Given the description of an element on the screen output the (x, y) to click on. 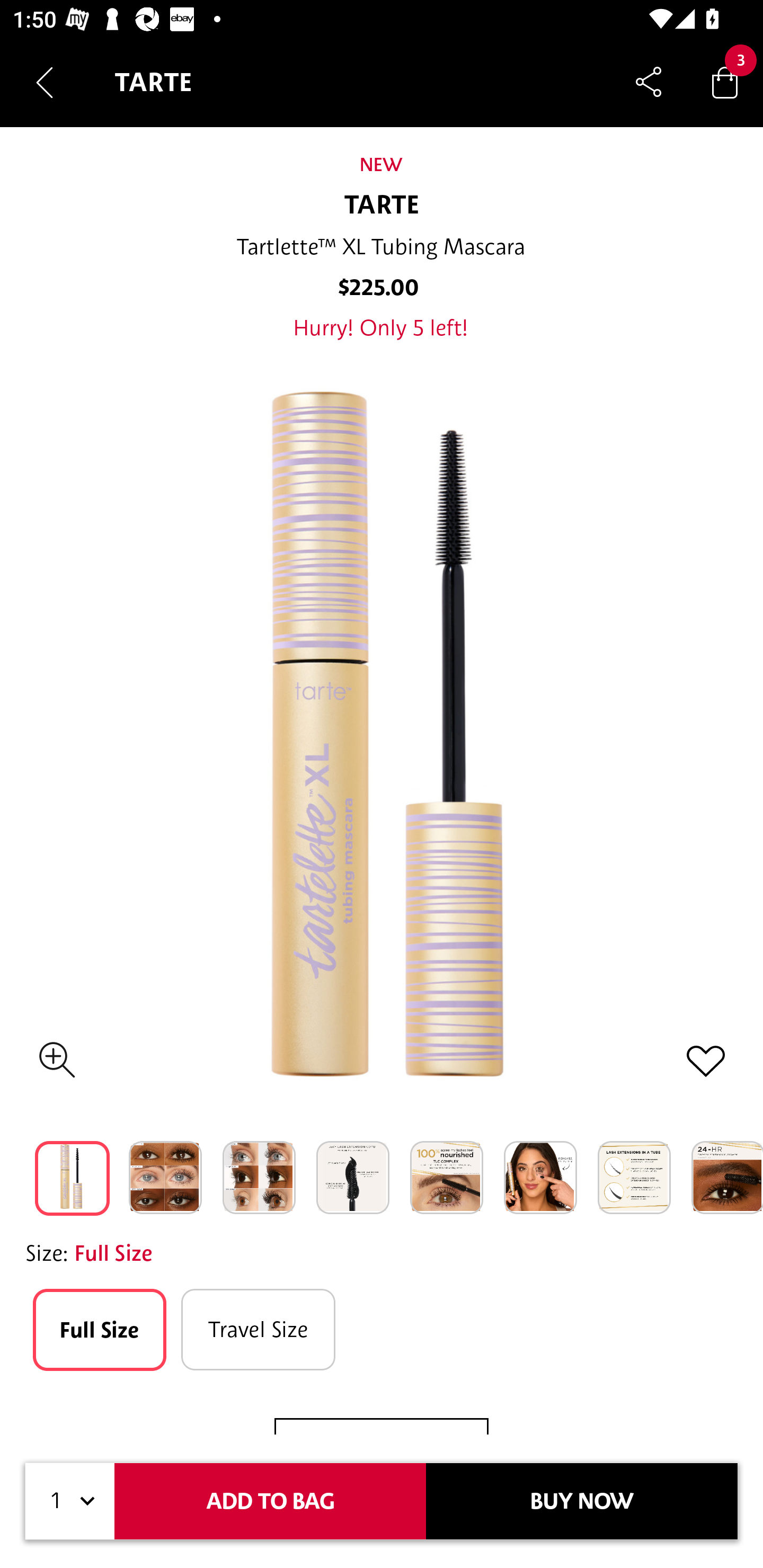
Navigate up (44, 82)
Share (648, 81)
Bag (724, 81)
TARTE (381, 205)
Full Size (99, 1329)
Travel Size (258, 1329)
1 (69, 1500)
ADD TO BAG (269, 1500)
BUY NOW (581, 1500)
